Given the description of an element on the screen output the (x, y) to click on. 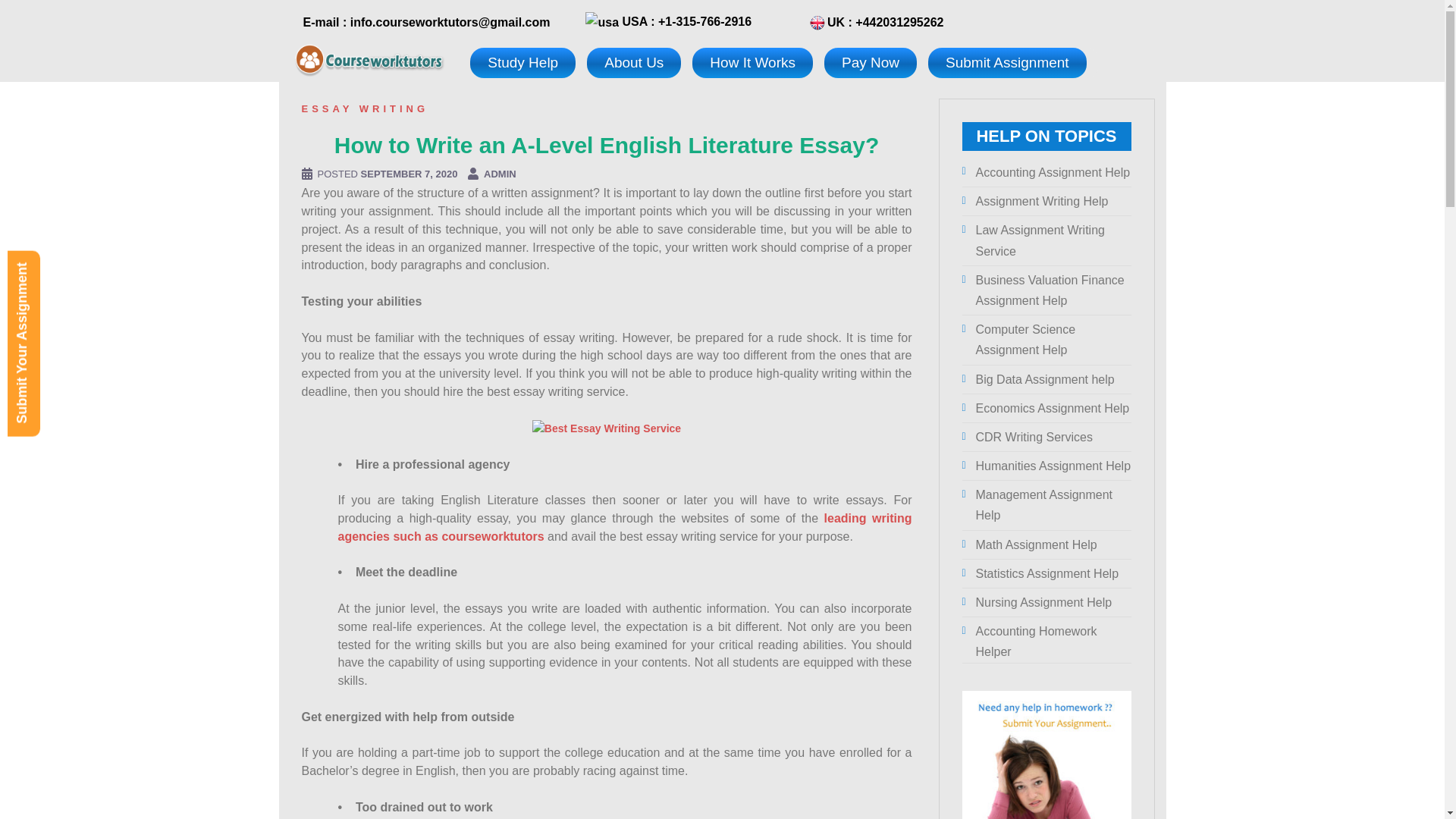
Essay writing (365, 108)
Courseworktutors (367, 58)
Best Essay Writing Service (606, 429)
Study Help (522, 62)
